Given the description of an element on the screen output the (x, y) to click on. 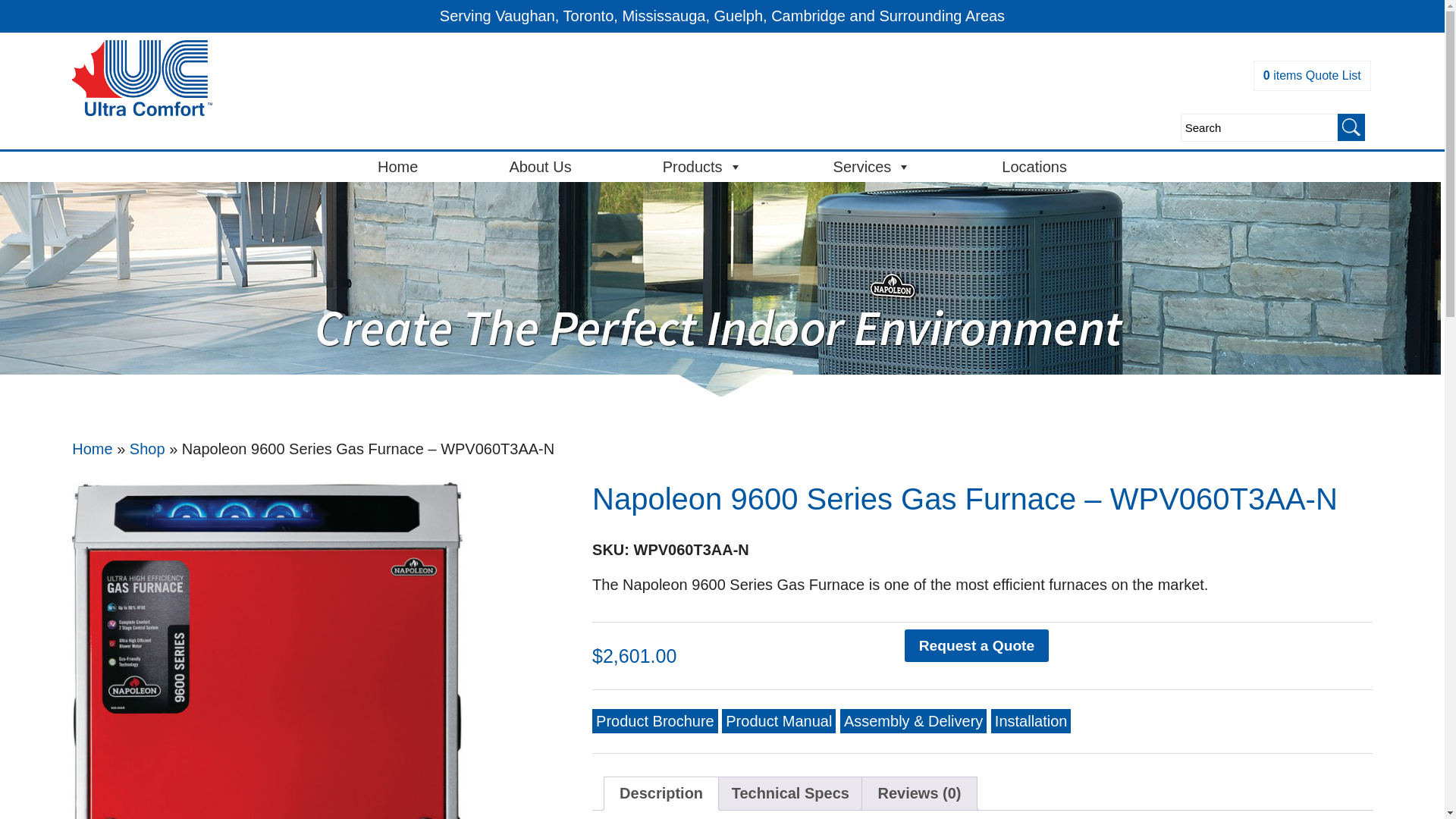
Home (91, 448)
Search (1259, 127)
0 items Quote List (1312, 74)
Shop (147, 448)
Products (702, 166)
Services (871, 166)
u5wjdfwopacvljcxmds0.jpg (266, 650)
Request a Quote (976, 645)
Home (397, 166)
About Us (539, 166)
Locations (1034, 166)
Search (1259, 127)
